Given the description of an element on the screen output the (x, y) to click on. 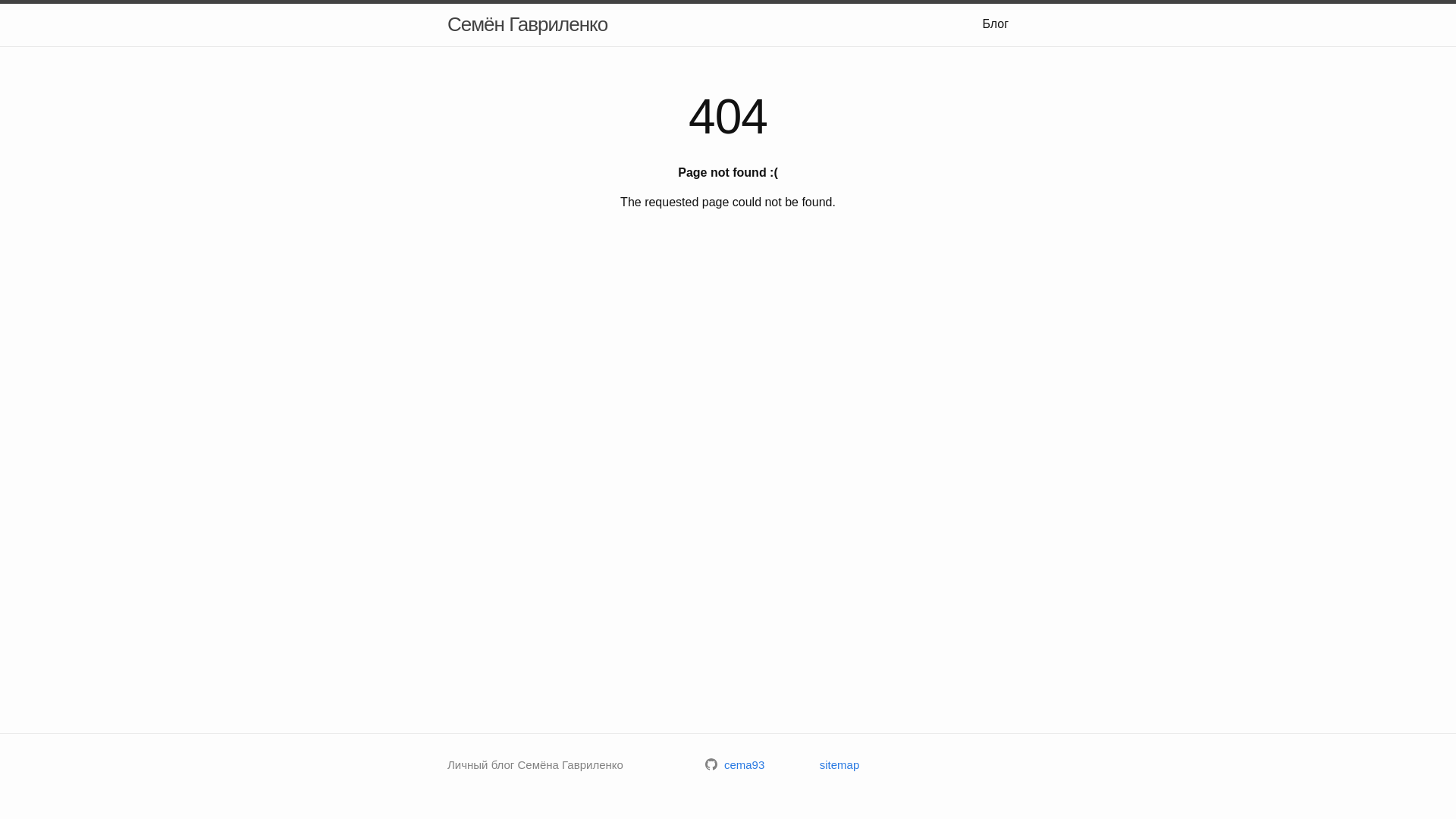
sitemap Element type: text (839, 764)
cema93 Element type: text (735, 764)
